Given the description of an element on the screen output the (x, y) to click on. 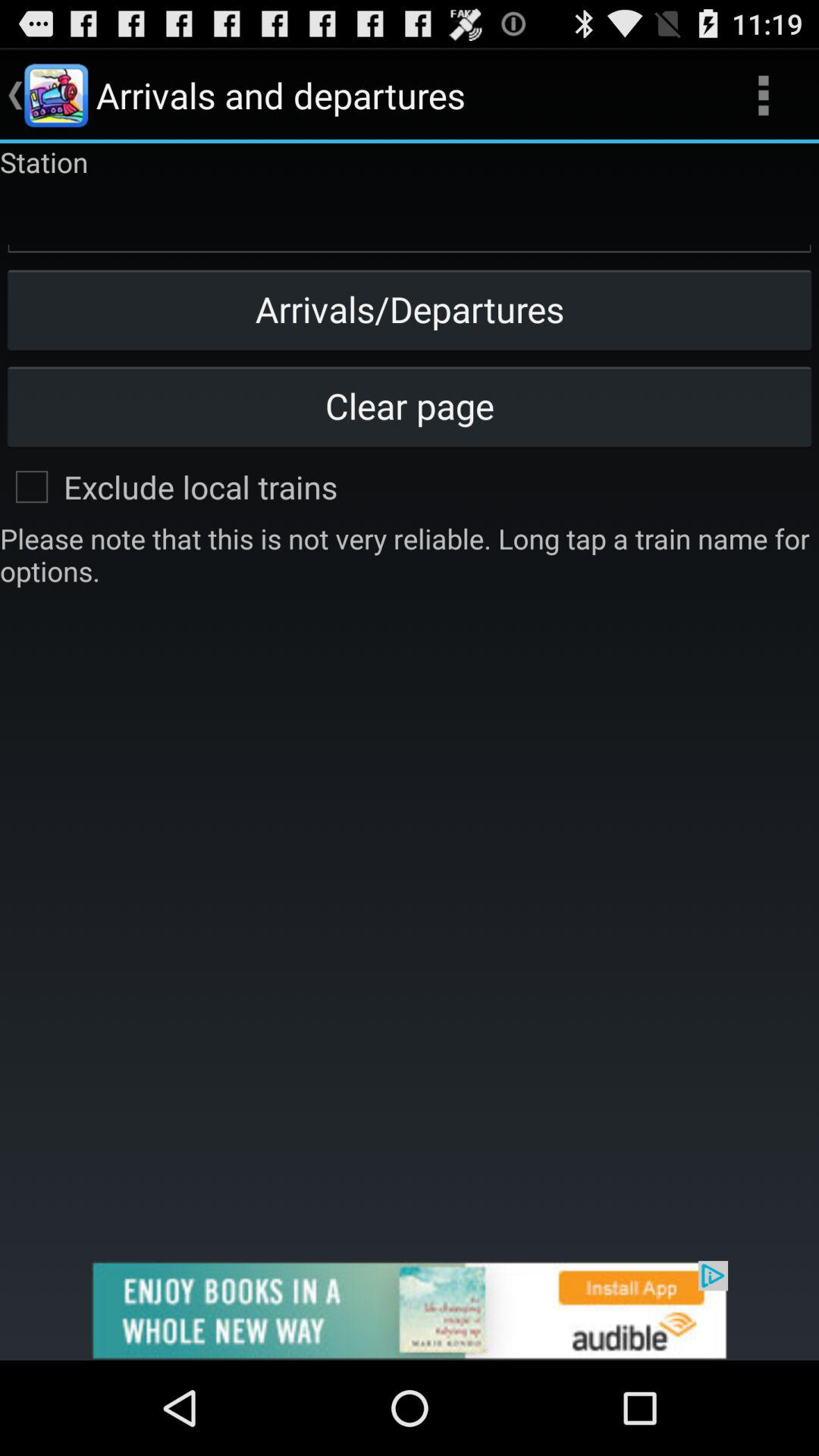
advertisement (409, 1310)
